Given the description of an element on the screen output the (x, y) to click on. 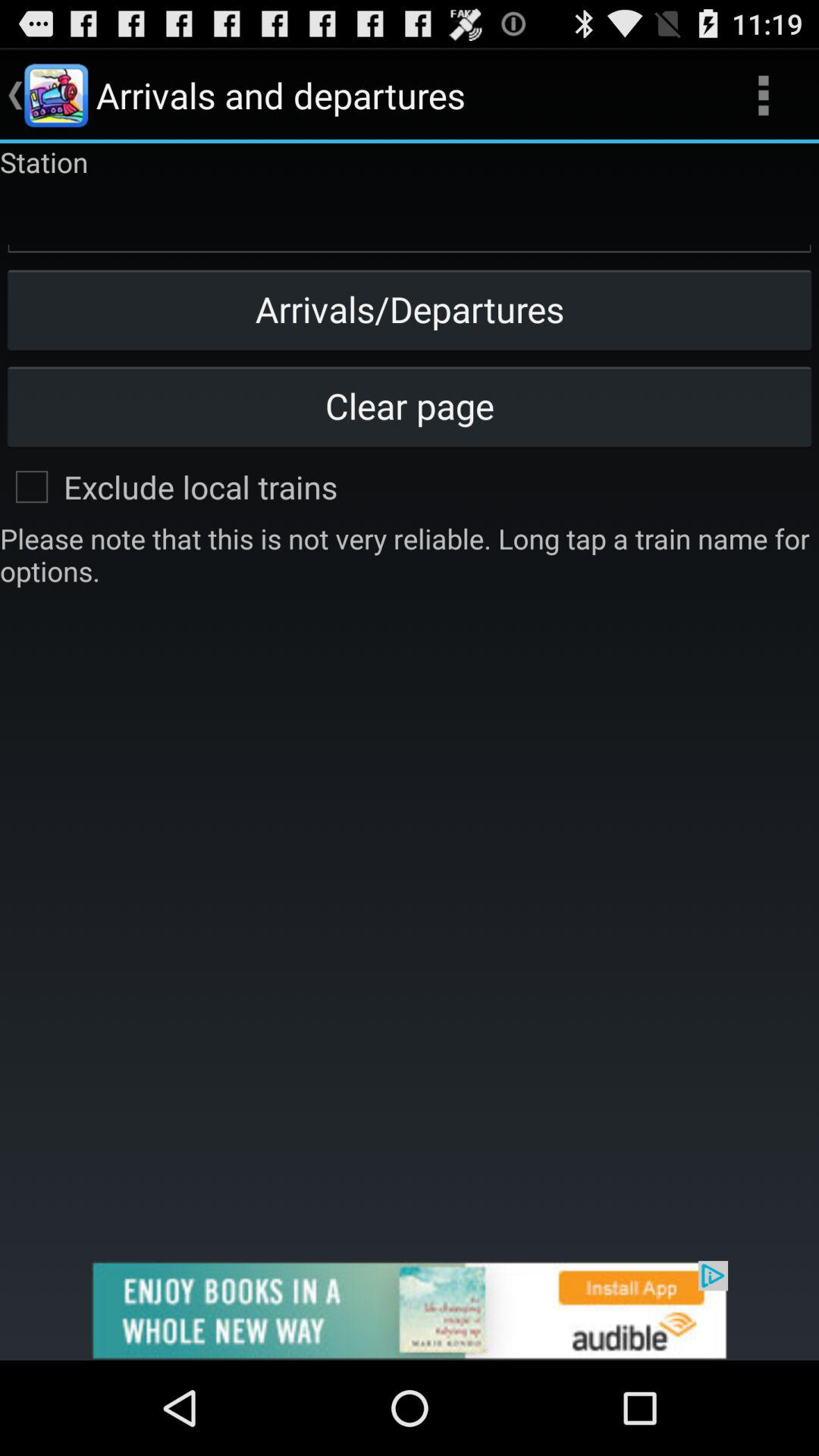
advertisement (409, 1310)
